Given the description of an element on the screen output the (x, y) to click on. 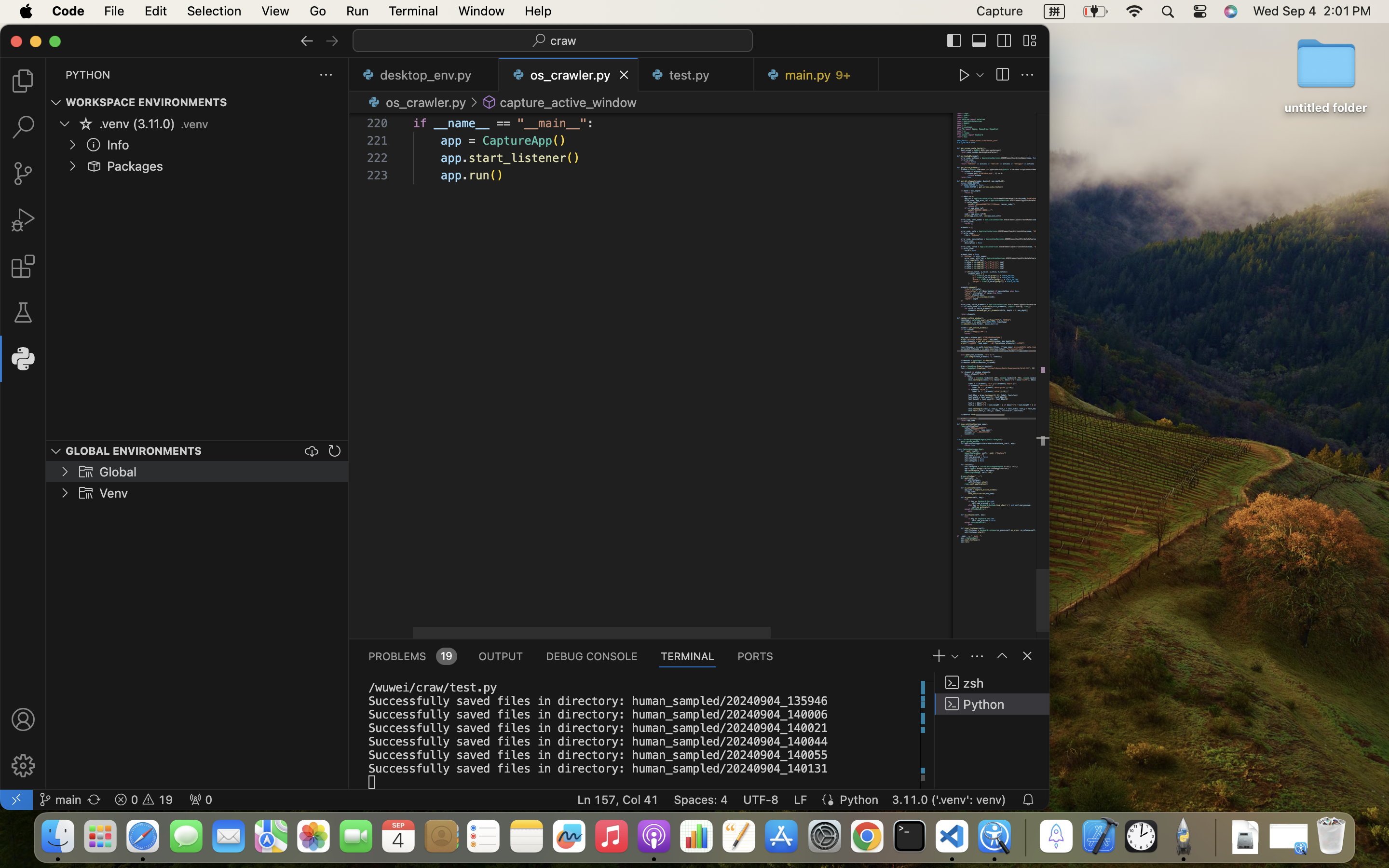
 Element type: AXButton (307, 40)
Python  Element type: AXGroup (991, 703)
0 DEBUG CONSOLE Element type: AXRadioButton (591, 655)
 Element type: AXGroup (23, 719)
Venv Element type: AXStaticText (113, 493)
